Given the description of an element on the screen output the (x, y) to click on. 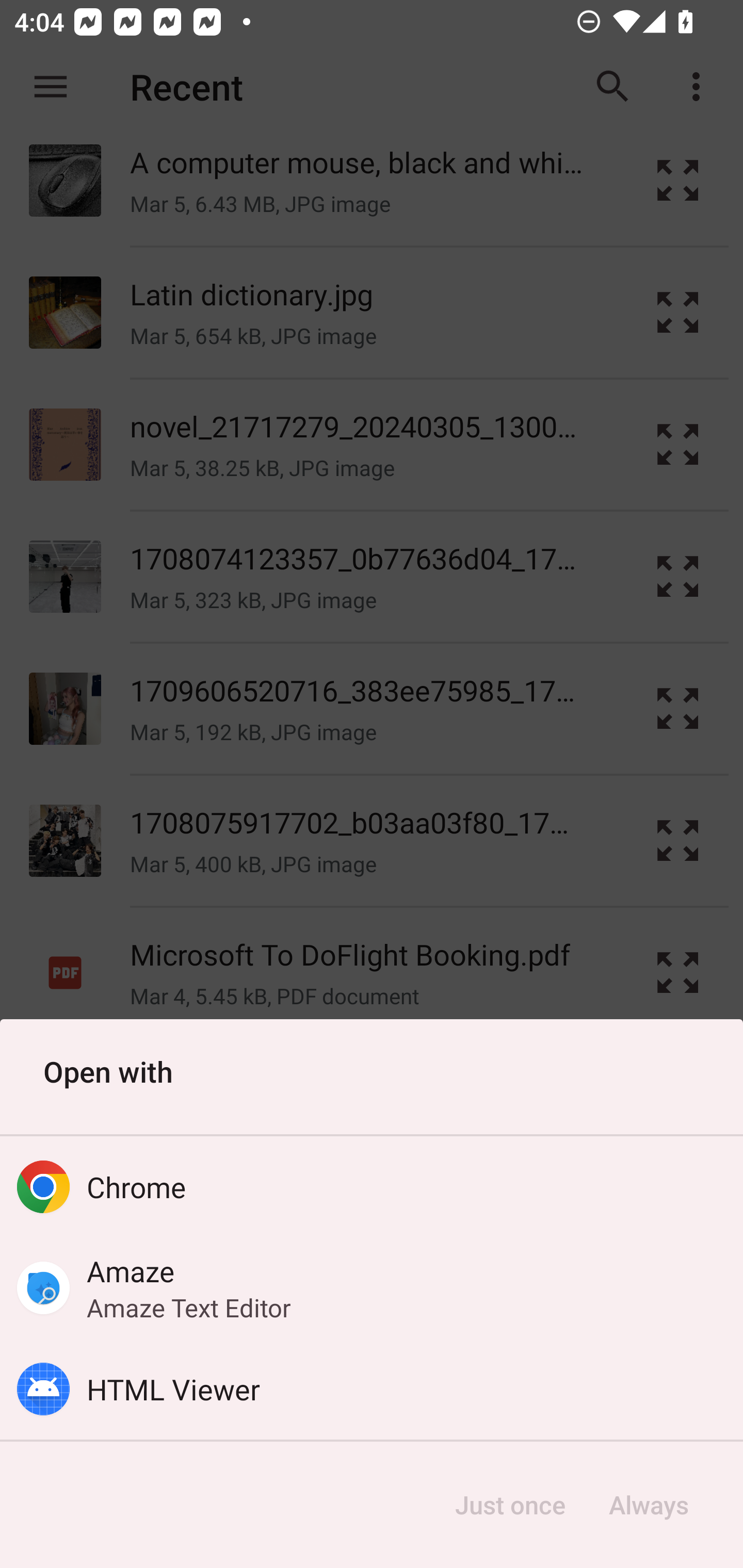
Chrome (371, 1186)
Amaze Amaze Text Editor (371, 1288)
HTML Viewer (371, 1389)
Just once (509, 1504)
Always (648, 1504)
